Given the description of an element on the screen output the (x, y) to click on. 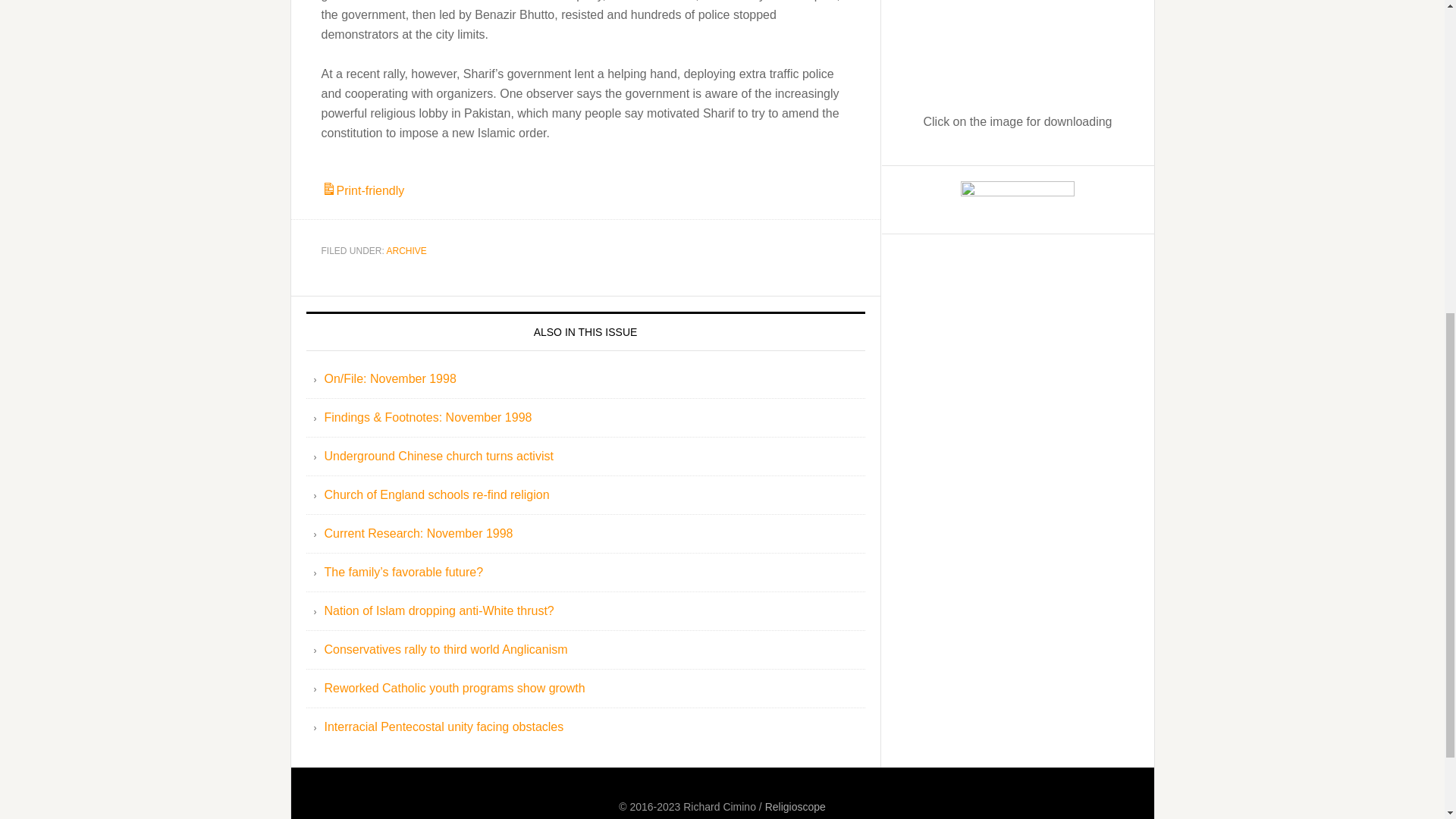
Underground Chinese church turns activist (438, 455)
Reworked Catholic youth programs show growth (454, 687)
Print-friendly (362, 190)
Religioscope (795, 806)
Church of England schools re-find religion (437, 494)
ARCHIVE (406, 250)
Nation of Islam dropping anti-White thrust? (439, 610)
Interracial Pentecostal unity facing obstacles (444, 726)
Conservatives rally to third world Anglicanism (445, 649)
Current Research: November 1998 (418, 533)
